Given the description of an element on the screen output the (x, y) to click on. 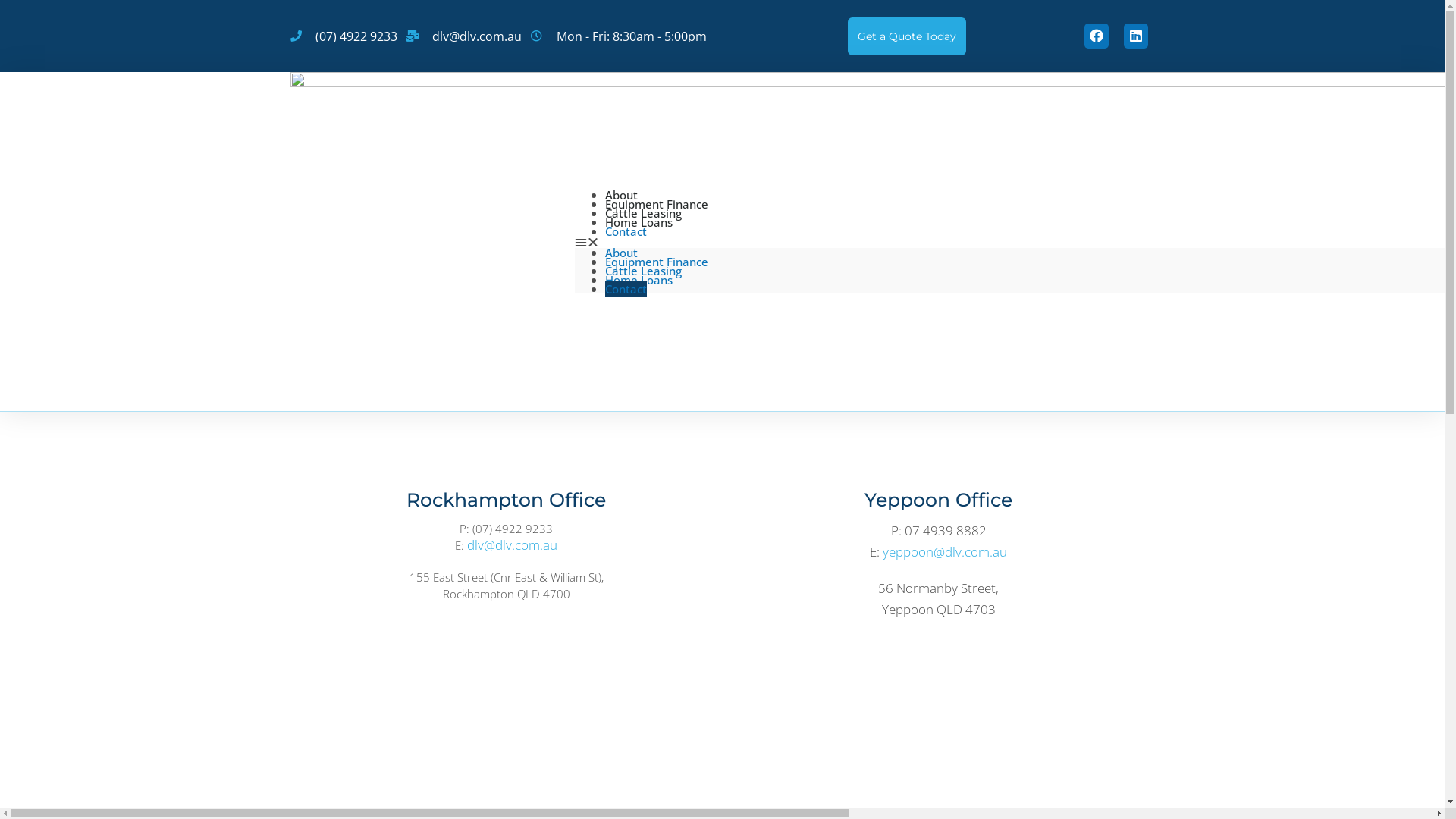
Contact Element type: text (625, 287)
Cattle Leasing Element type: text (643, 269)
Equipment Finance Element type: text (656, 260)
Cattle Leasing Element type: text (643, 212)
Home Loans Element type: text (638, 278)
yeppoon@dlv.com.au Element type: text (944, 551)
Get a Quote Today Element type: text (906, 35)
Contact Element type: text (625, 230)
About Element type: text (621, 194)
About Element type: text (621, 251)
Home Loans Element type: text (638, 221)
dlv@dlv.com.au Element type: text (512, 544)
Equipment Finance Element type: text (656, 203)
